Given the description of an element on the screen output the (x, y) to click on. 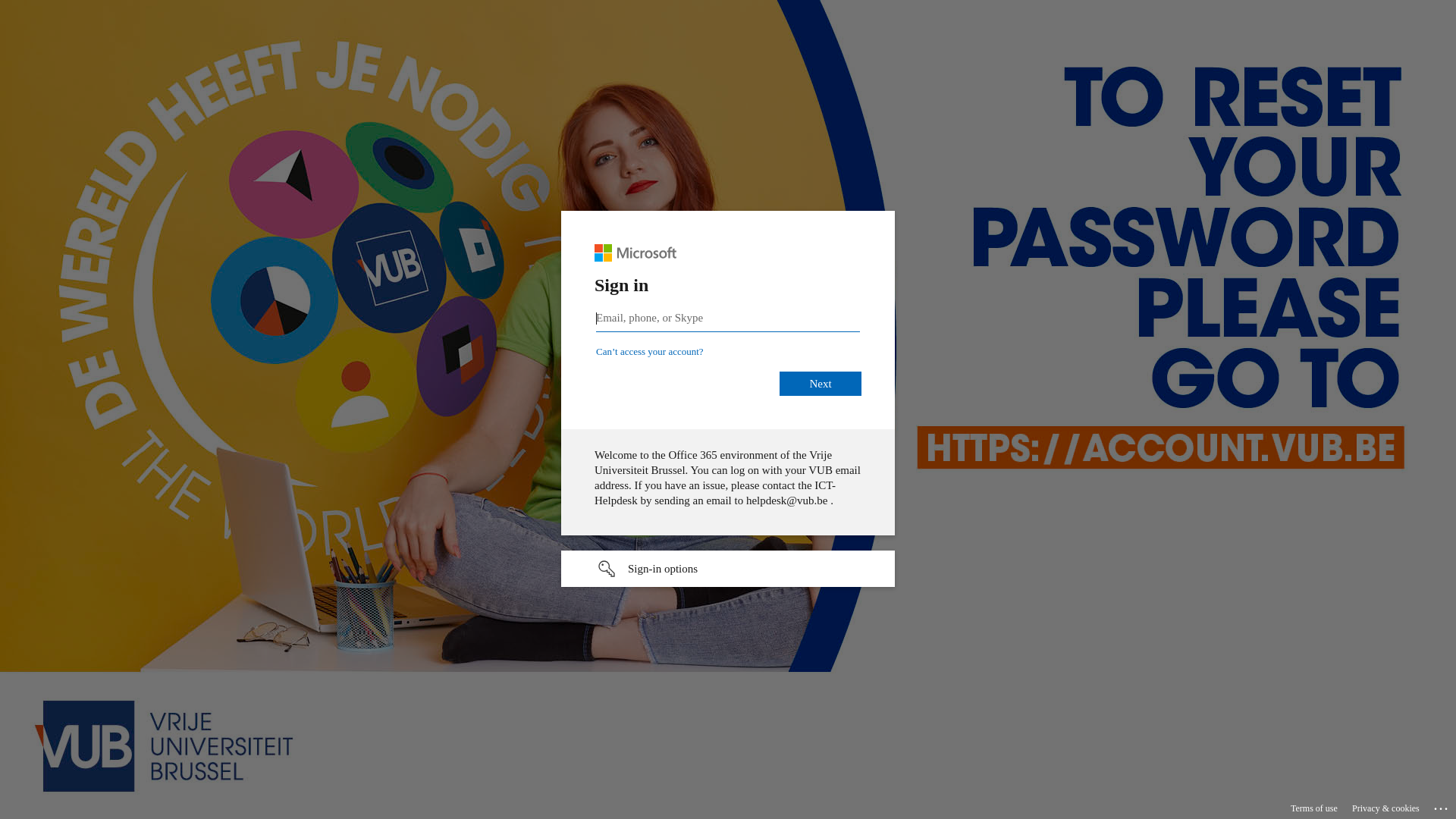
... Element type: text (1441, 805)
Next Element type: text (820, 383)
